Given the description of an element on the screen output the (x, y) to click on. 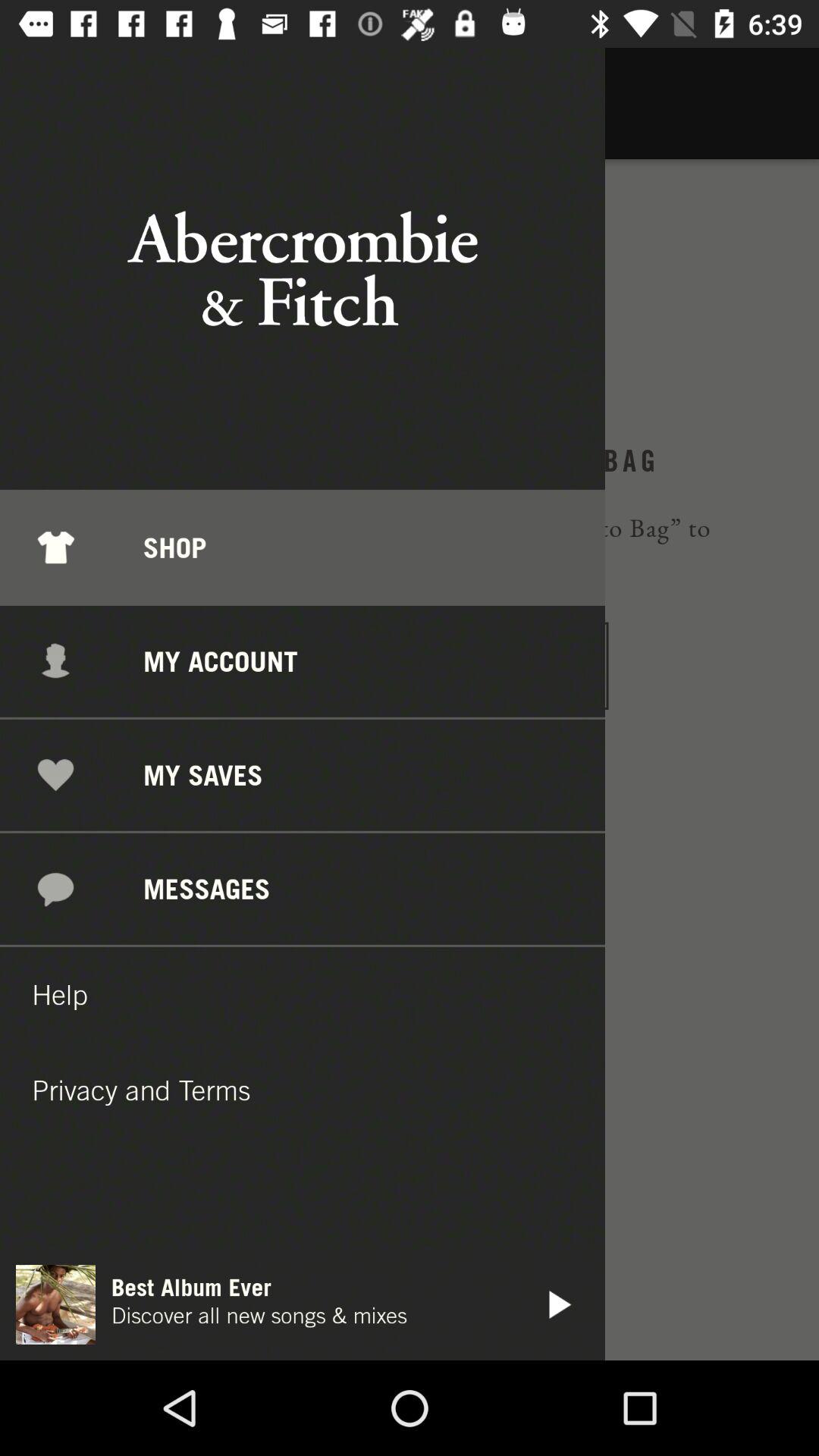
select the text abercrombie  fitch shown at the top of the page (302, 267)
click the play icon at right bottom corner of the page (557, 1304)
